Given the description of an element on the screen output the (x, y) to click on. 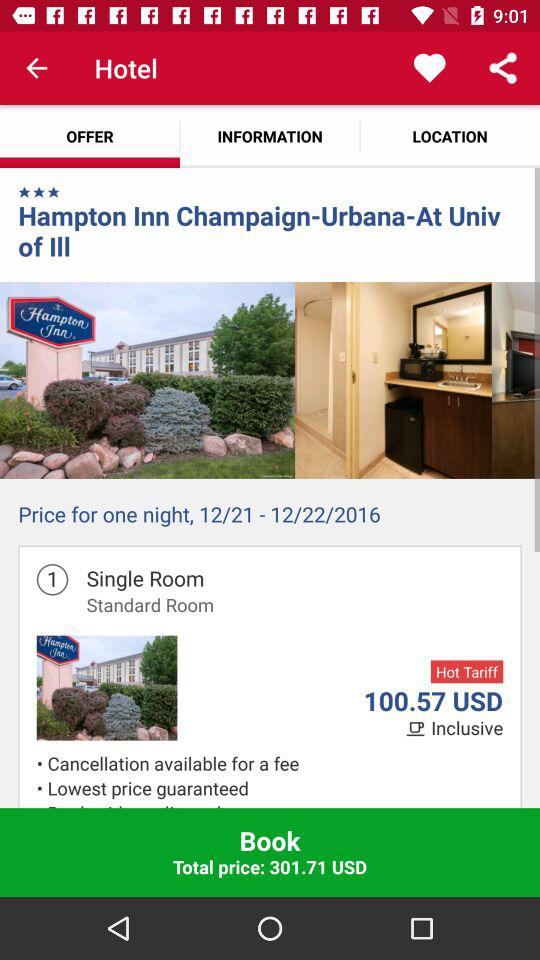
tap icon above the hampton inn champaign icon (54, 191)
